Given the description of an element on the screen output the (x, y) to click on. 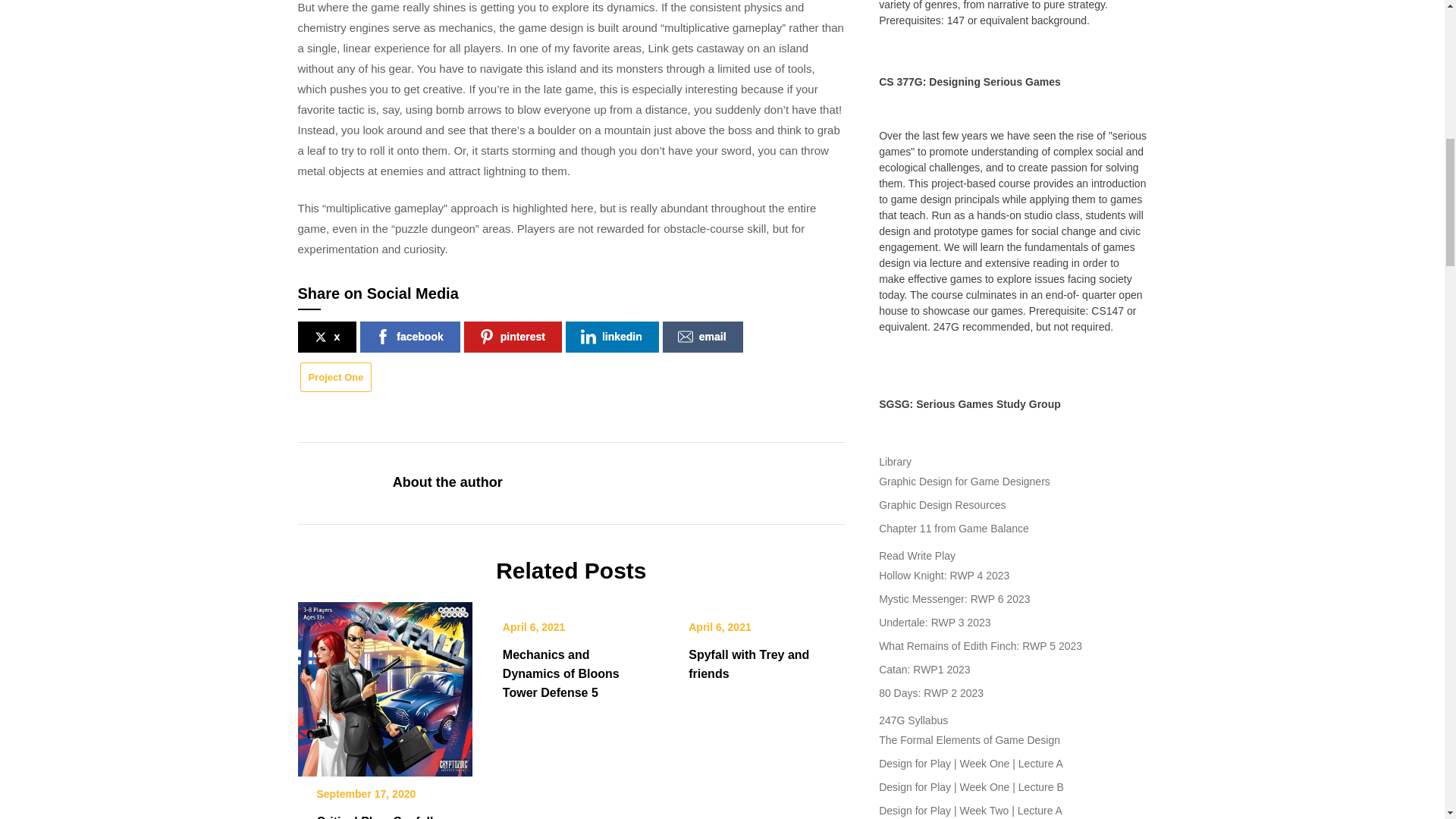
Critical Play: Spyfall (384, 684)
